Given the description of an element on the screen output the (x, y) to click on. 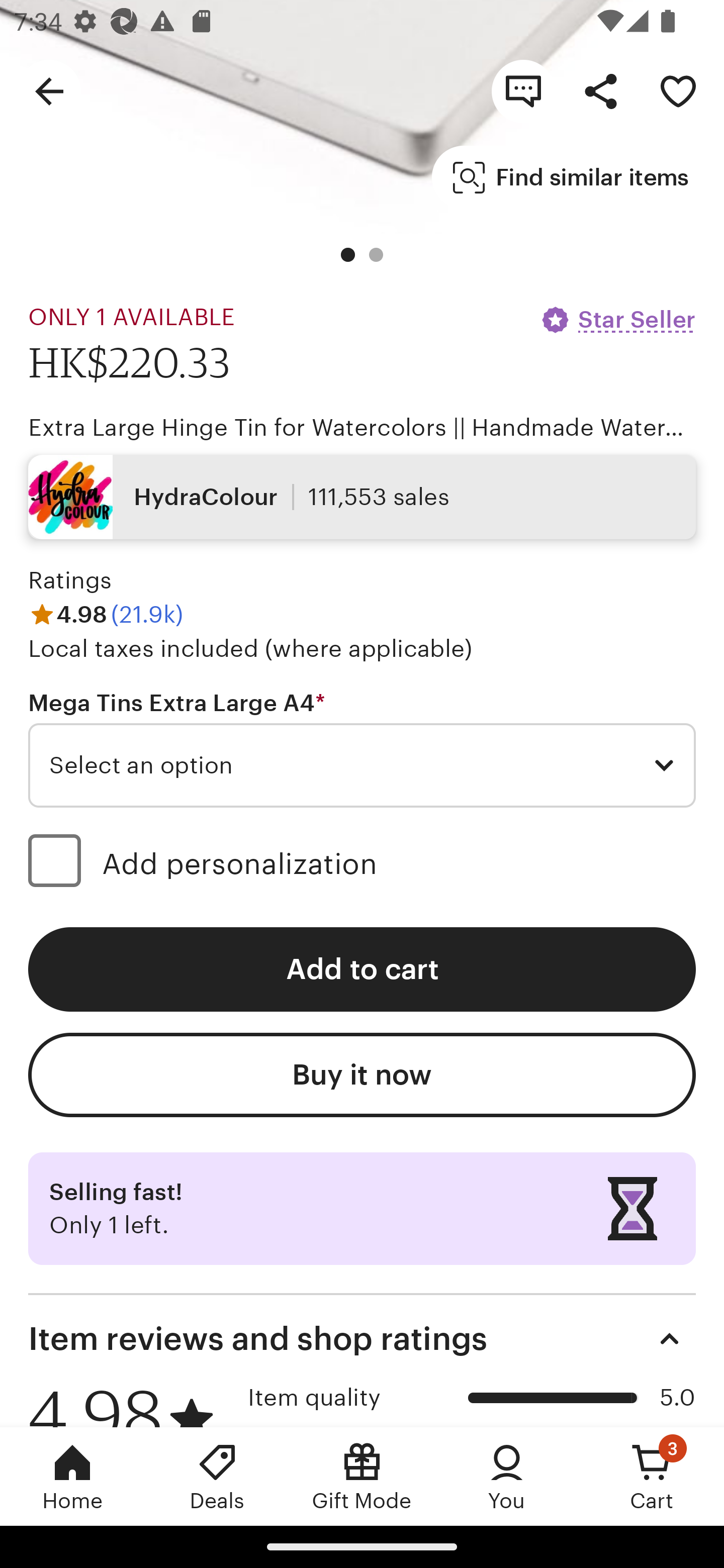
Navigate up (49, 90)
Contact shop (523, 90)
Share (600, 90)
Find similar items (571, 176)
Star Seller (617, 319)
HydraColour 111,553 sales (361, 496)
Ratings (70, 580)
4.98 (21.9k) (105, 614)
Select an option (361, 764)
Add personalization (optional) Add personalization (362, 863)
Add to cart (361, 968)
Buy it now (361, 1074)
Item reviews and shop ratings (362, 1338)
Deals (216, 1475)
Gift Mode (361, 1475)
You (506, 1475)
Cart, 3 new notifications Cart (651, 1475)
